Given the description of an element on the screen output the (x, y) to click on. 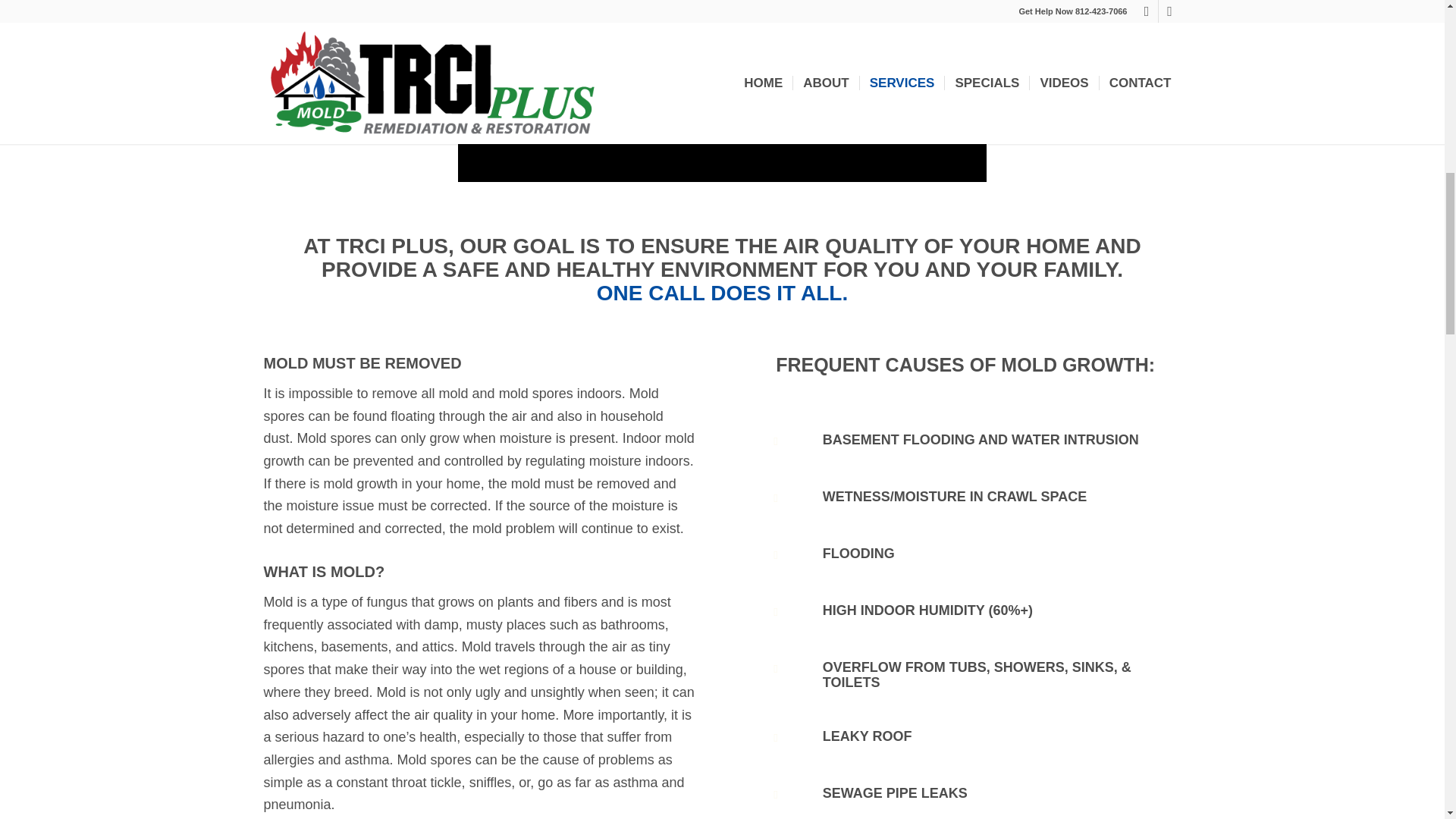
FIRE and WATER Restoration, MOLD Remediation (722, 90)
